Given the description of an element on the screen output the (x, y) to click on. 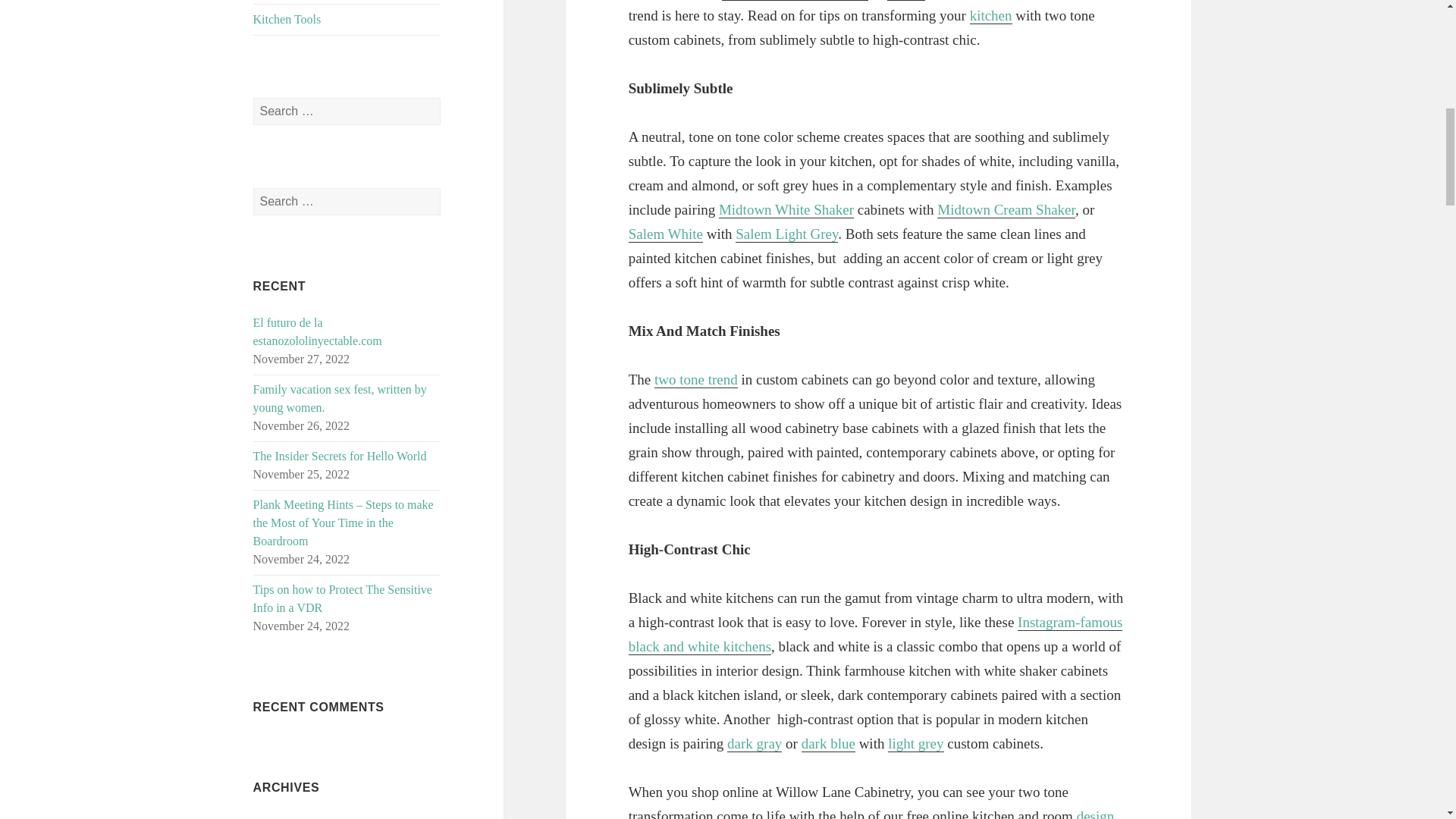
El futuro de la estanozololinyectable.com (317, 331)
Closets (347, 2)
Tips on how to Protect The Sensitive Info in a VDR (342, 598)
The Insider Secrets for Hello World (339, 455)
Family vacation sex fest, written by young women. (339, 398)
Kitchen Tools (347, 19)
